Given the description of an element on the screen output the (x, y) to click on. 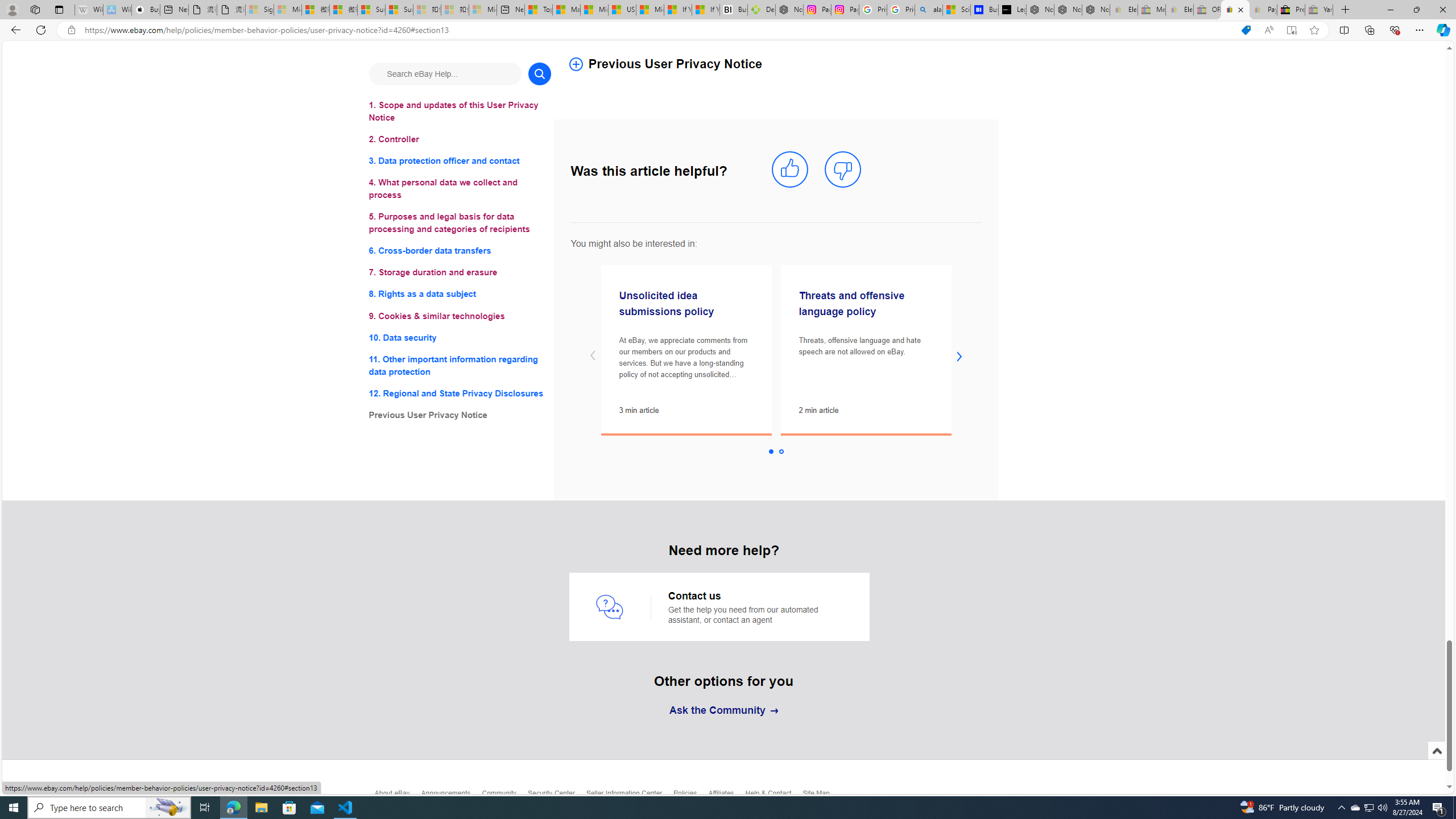
3. Data protection officer and contact (459, 160)
Payments Terms of Use | eBay.com - Sleeping (1262, 9)
6. Cross-border data transfers (459, 250)
2. Controller (459, 138)
Descarga Driver Updater (761, 9)
About eBay (397, 795)
Sign in to your Microsoft account - Sleeping (259, 9)
